Given the description of an element on the screen output the (x, y) to click on. 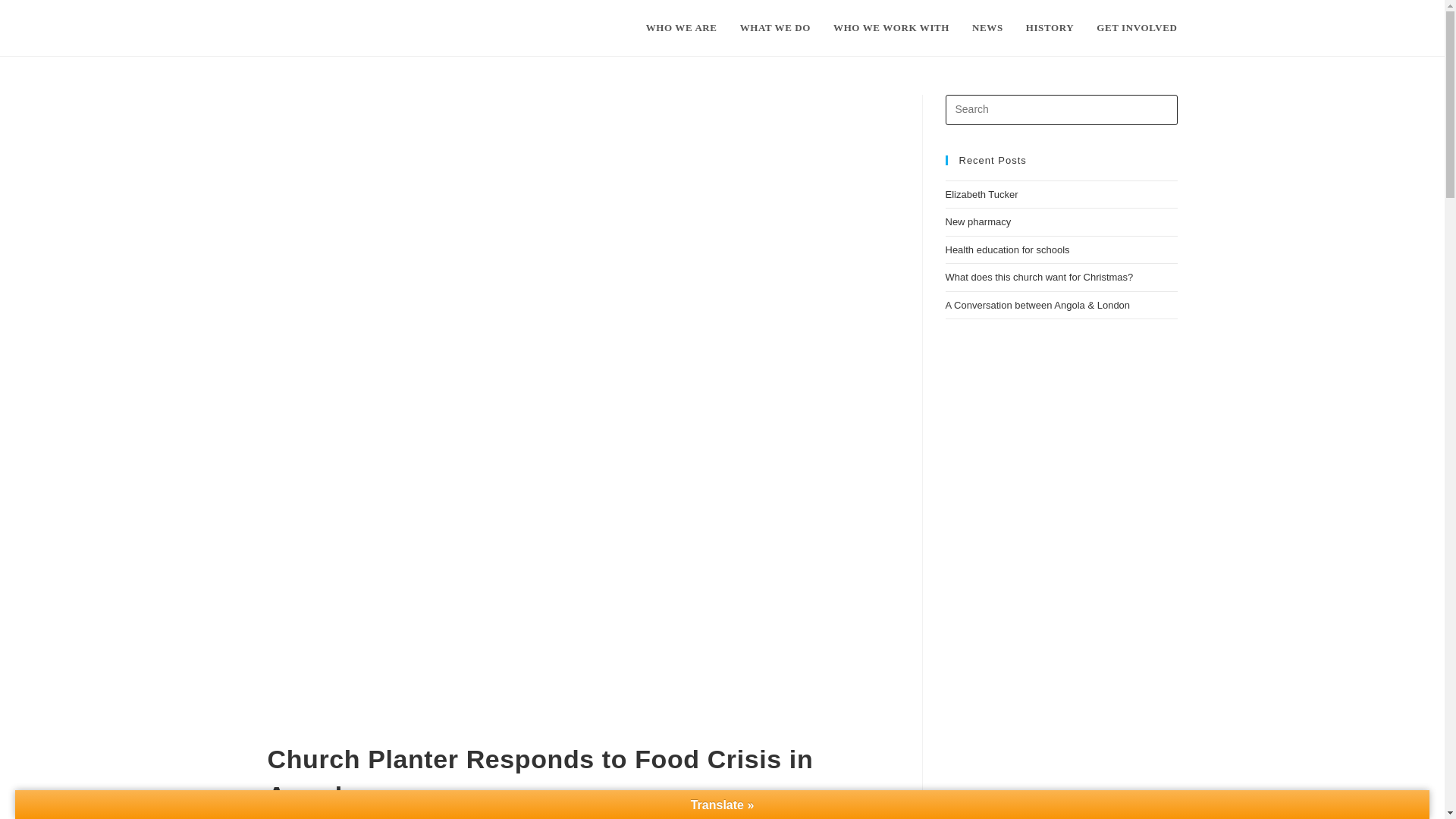
HISTORY (1049, 28)
WHAT WE DO (775, 28)
NEWS (987, 28)
GET INVOLVED (1136, 28)
WHO WE WORK WITH (891, 28)
WHO WE ARE (681, 28)
